Given the description of an element on the screen output the (x, y) to click on. 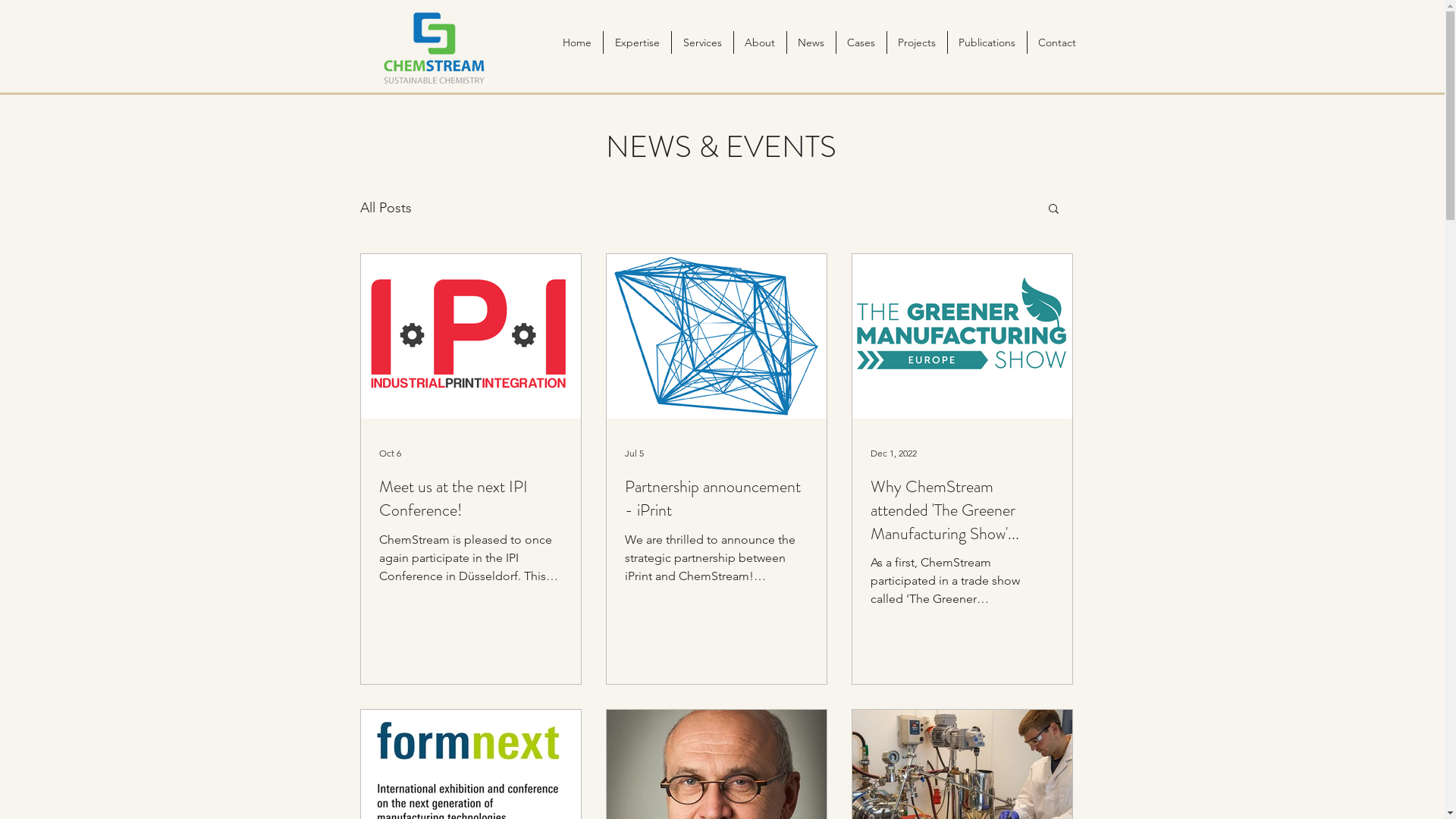
Contact Element type: text (1056, 42)
Home Element type: text (576, 42)
News Element type: text (809, 42)
Services Element type: text (701, 42)
Partnership announcement - iPrint Element type: text (716, 498)
Expertise Element type: text (636, 42)
All Posts Element type: text (385, 207)
Publications Element type: text (986, 42)
Projects Element type: text (915, 42)
Cases Element type: text (860, 42)
About Element type: text (758, 42)
Meet us at the next IPI Conference! Element type: text (470, 498)
Why ChemStream attended 'The Greener Manufacturing Show'... Element type: text (962, 510)
